Given the description of an element on the screen output the (x, y) to click on. 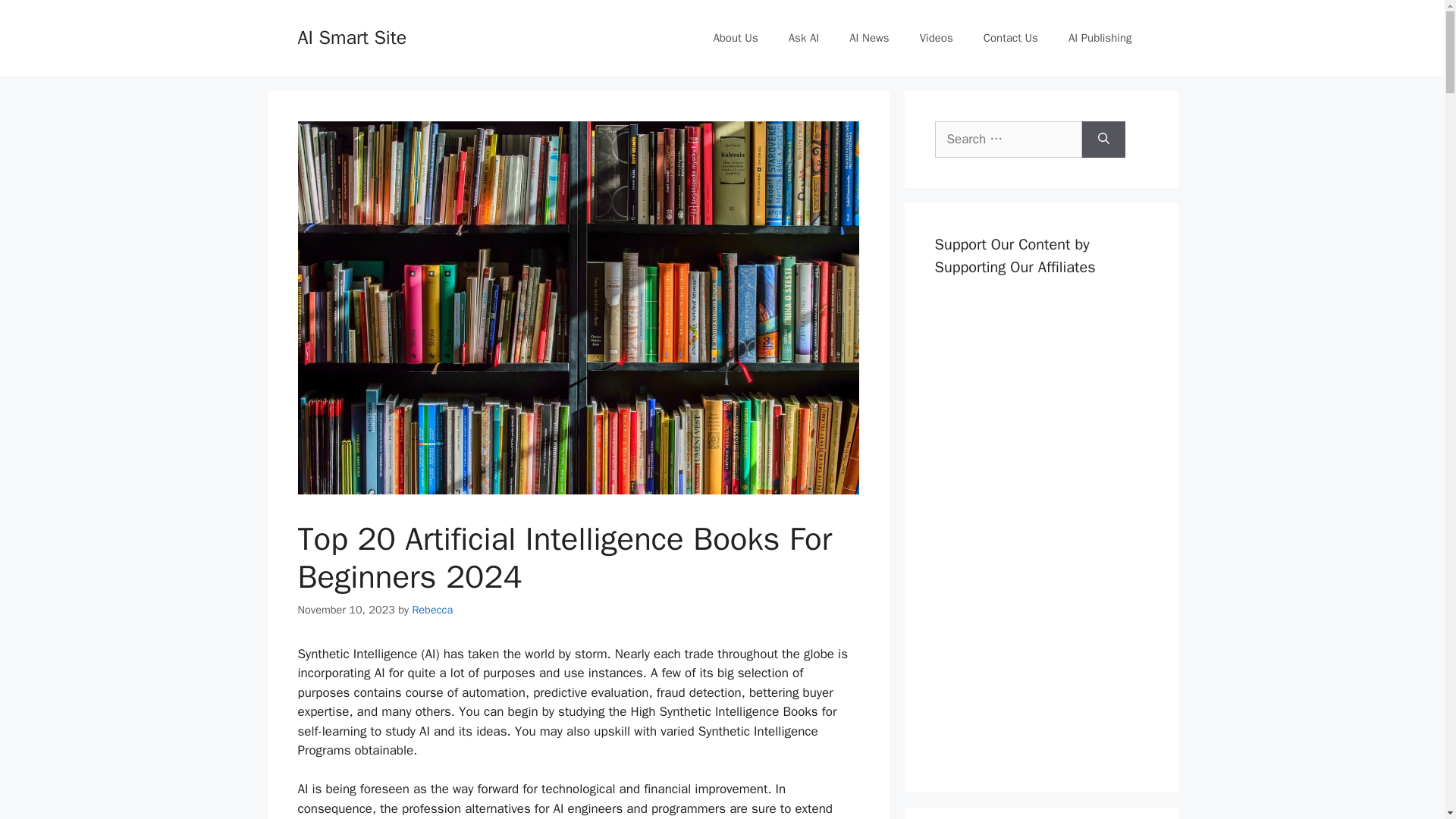
Videos (936, 37)
AI News (869, 37)
Search for: (1007, 139)
AI Publishing (1099, 37)
View all posts by Rebecca (432, 609)
About Us (735, 37)
Ask AI (803, 37)
Contact Us (1010, 37)
AI Smart Site (351, 37)
Rebecca (432, 609)
